Given the description of an element on the screen output the (x, y) to click on. 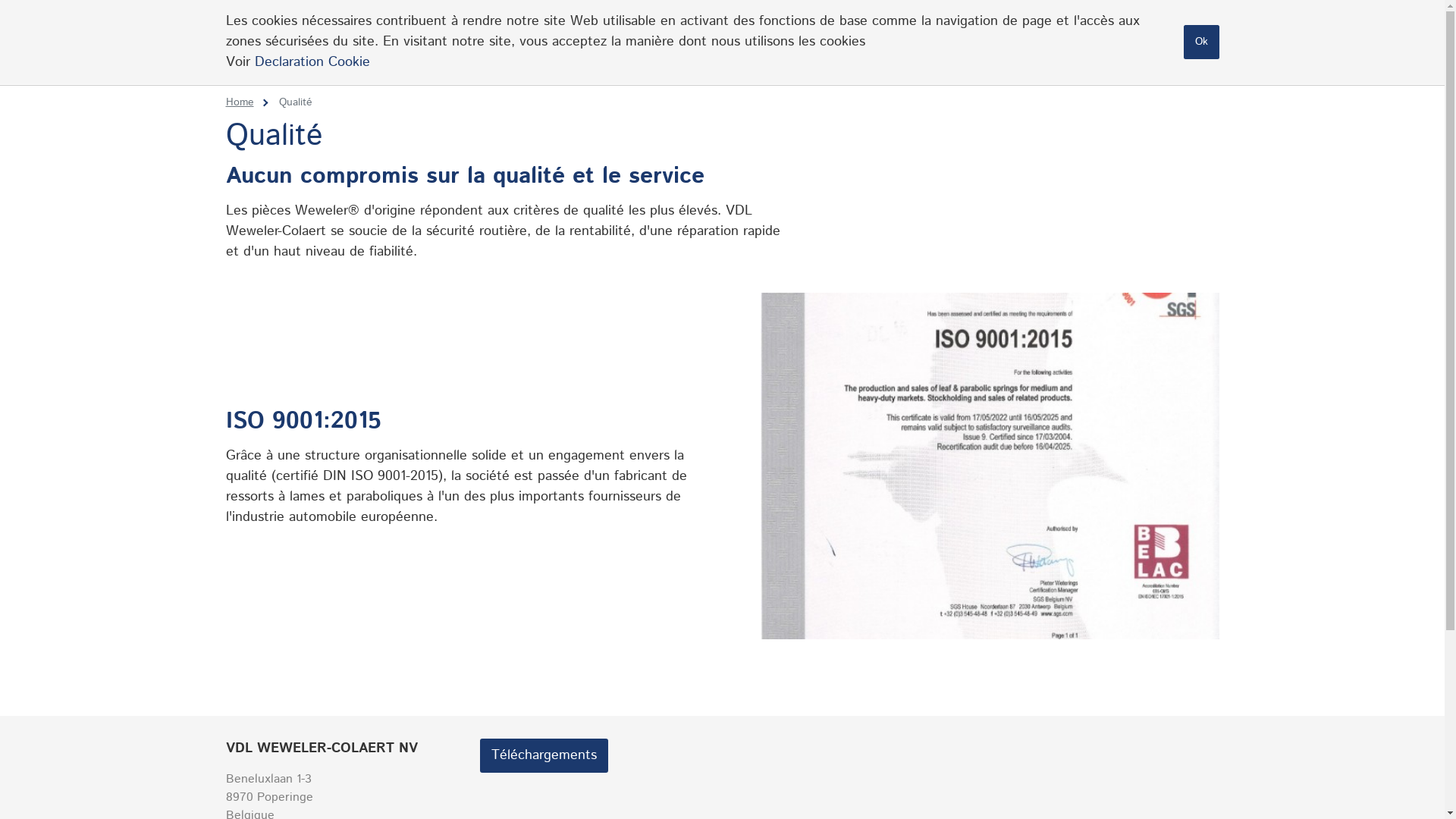
ISO 9001:2015 Element type: hover (988, 465)
RU Element type: text (1132, 21)
logo-colaert Element type: hover (276, 41)
Home Element type: text (239, 101)
E-Catalogue Element type: text (1178, 60)
CONTACT Element type: text (1077, 63)
NL Element type: text (1091, 21)
ENTREPRISE Element type: text (752, 63)
HOME Element type: text (655, 63)
logo-colaert Element type: hover (275, 41)
Declaration Cookie Element type: text (312, 62)
PRODUITS Element type: text (868, 63)
ES Element type: text (1174, 21)
+32 (0)57 346 205 Element type: text (1017, 21)
FR Element type: text (1111, 21)
EN Element type: text (1153, 21)
Recherche Element type: hover (1211, 21)
